Given the description of an element on the screen output the (x, y) to click on. 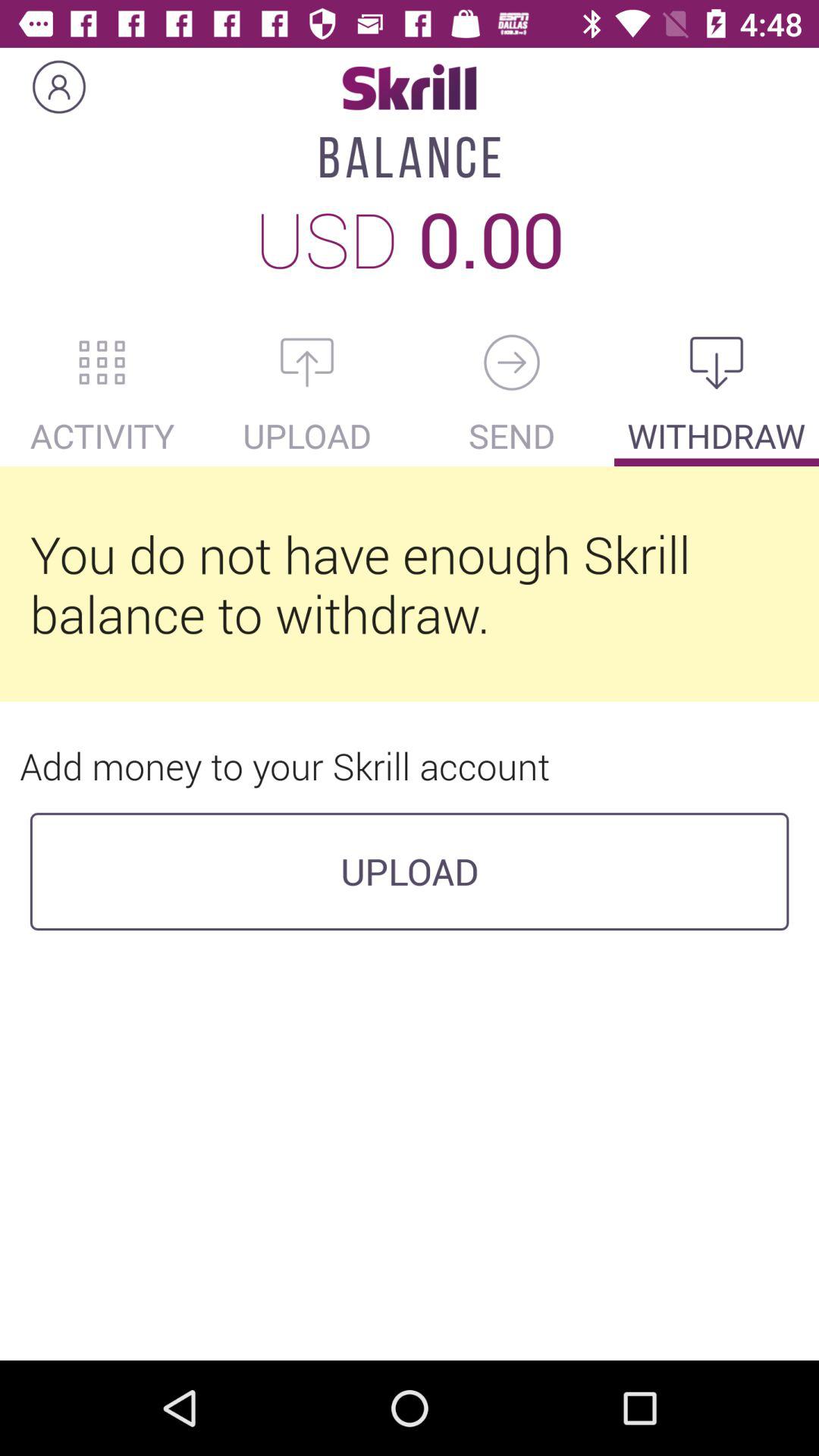
upload option (306, 362)
